Given the description of an element on the screen output the (x, y) to click on. 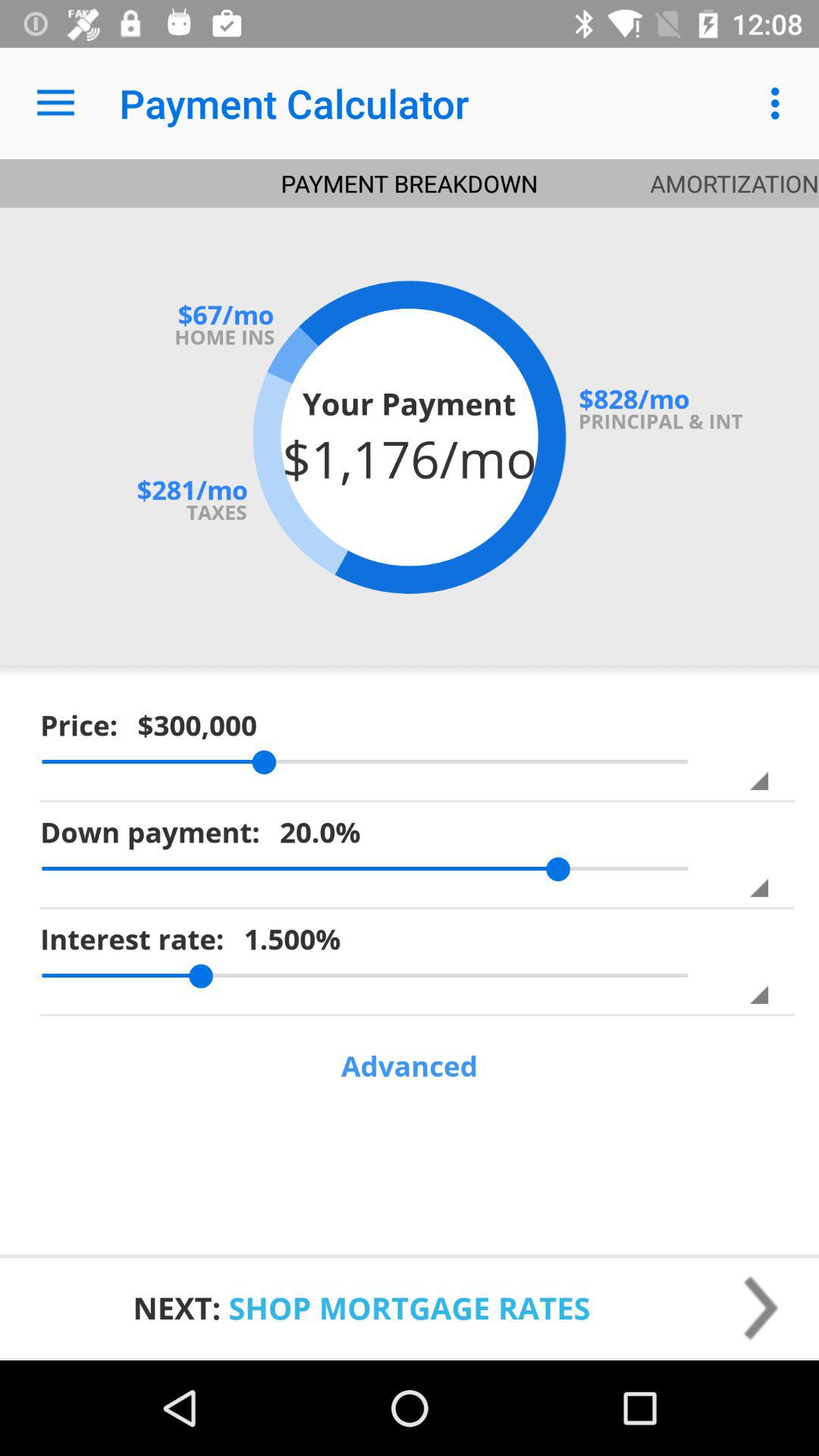
flip until the advanced (409, 1065)
